Given the description of an element on the screen output the (x, y) to click on. 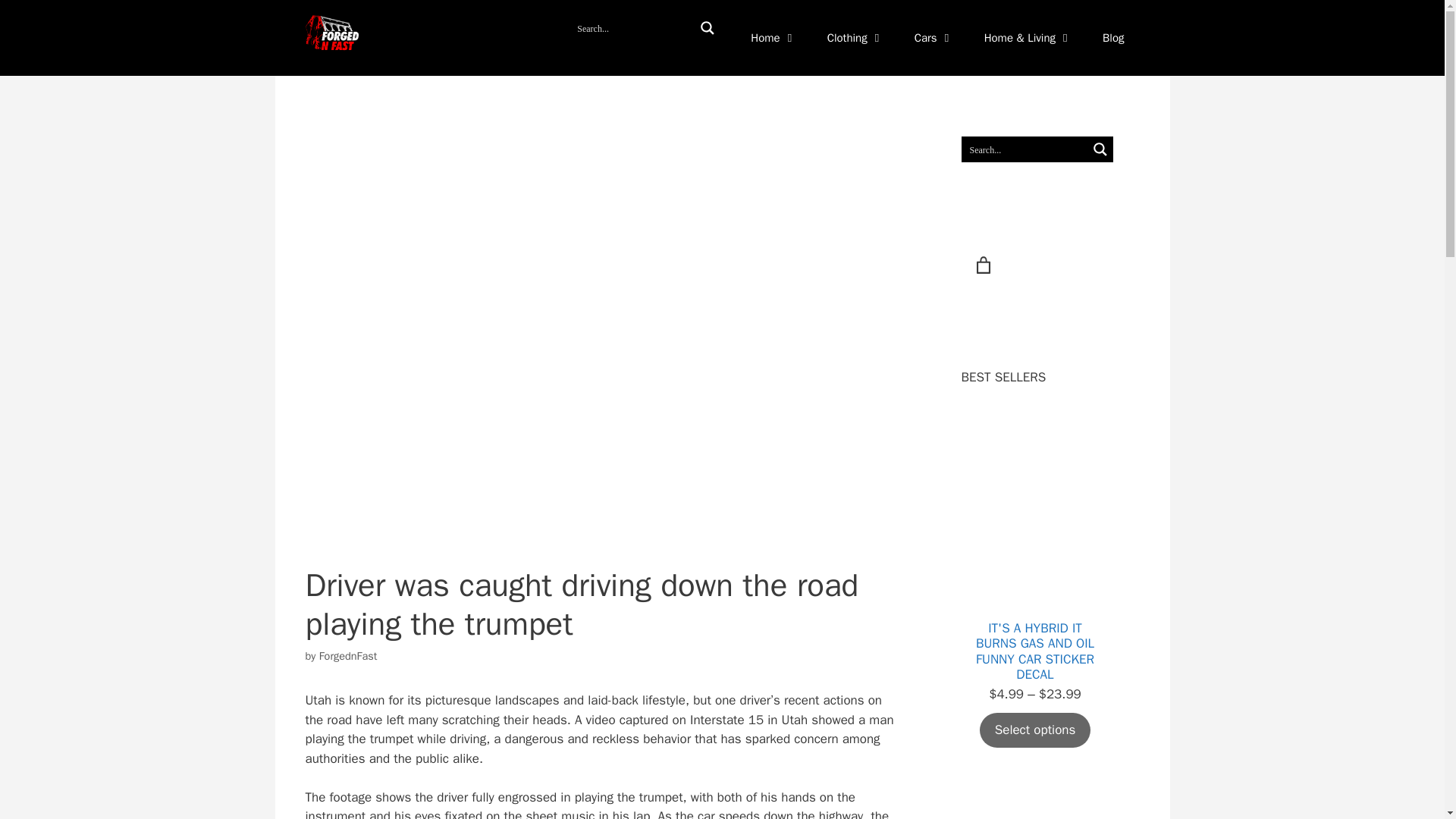
ForgednFast (347, 655)
Cars (934, 37)
Home (772, 37)
Clothing (855, 37)
View all posts by ForgednFast (347, 655)
Blog (1112, 37)
